Given the description of an element on the screen output the (x, y) to click on. 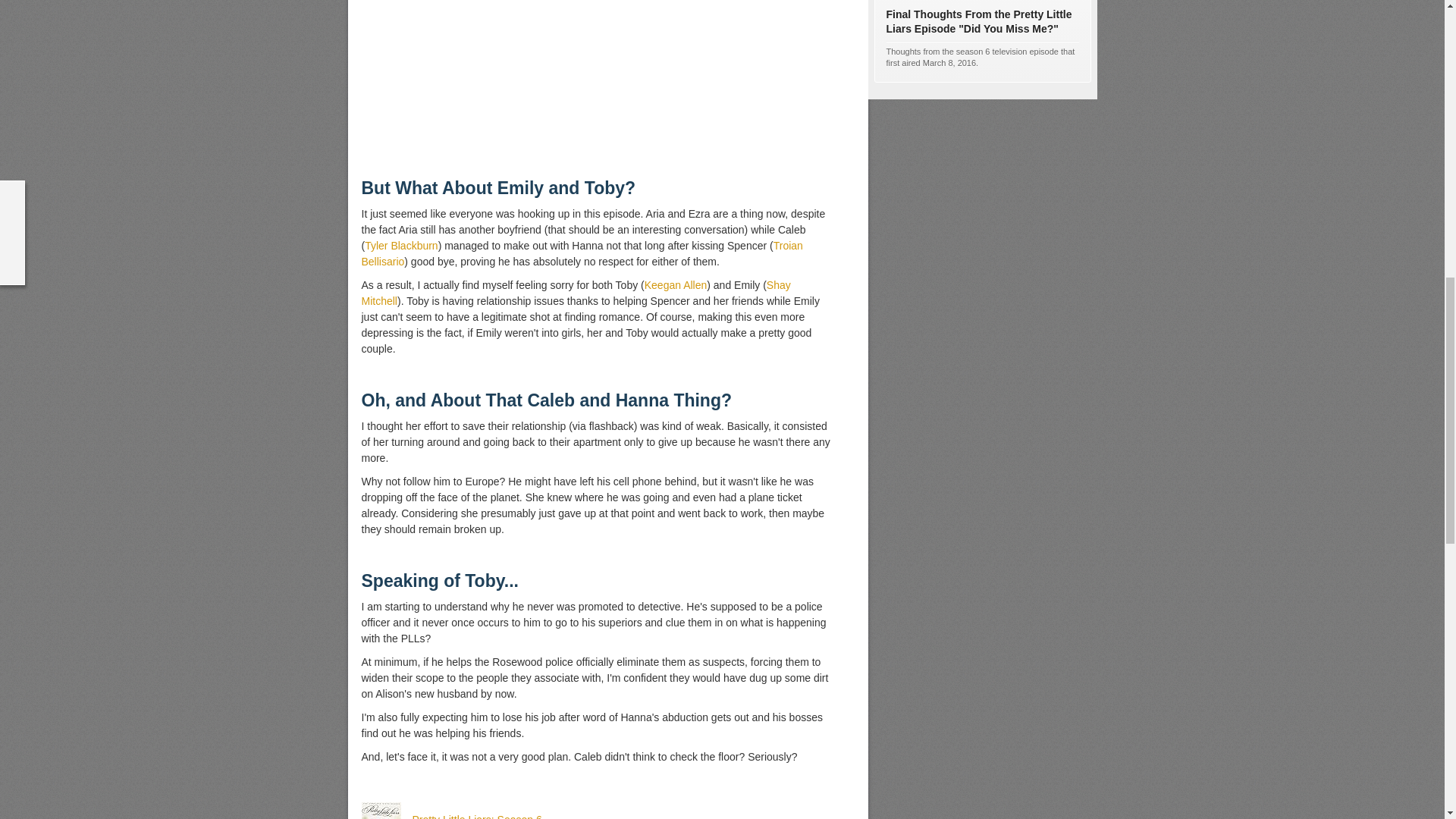
Pretty Little Liars: Season 6 (476, 816)
Keegan Allen (676, 285)
Tyler Blackburn (401, 245)
Troian Bellisario (581, 253)
Shay Mitchell (575, 293)
